Given the description of an element on the screen output the (x, y) to click on. 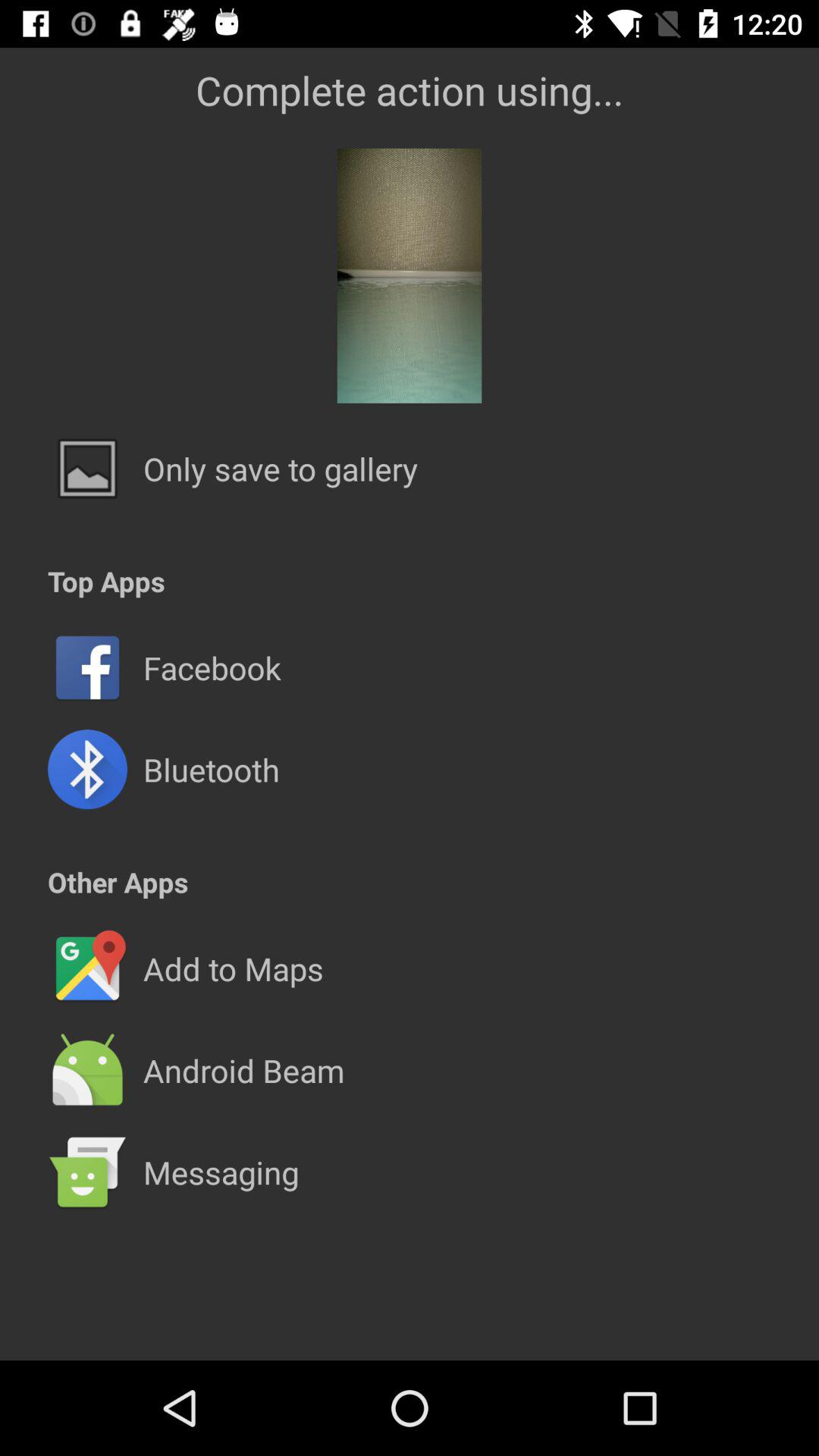
scroll to the other apps (117, 881)
